Given the description of an element on the screen output the (x, y) to click on. 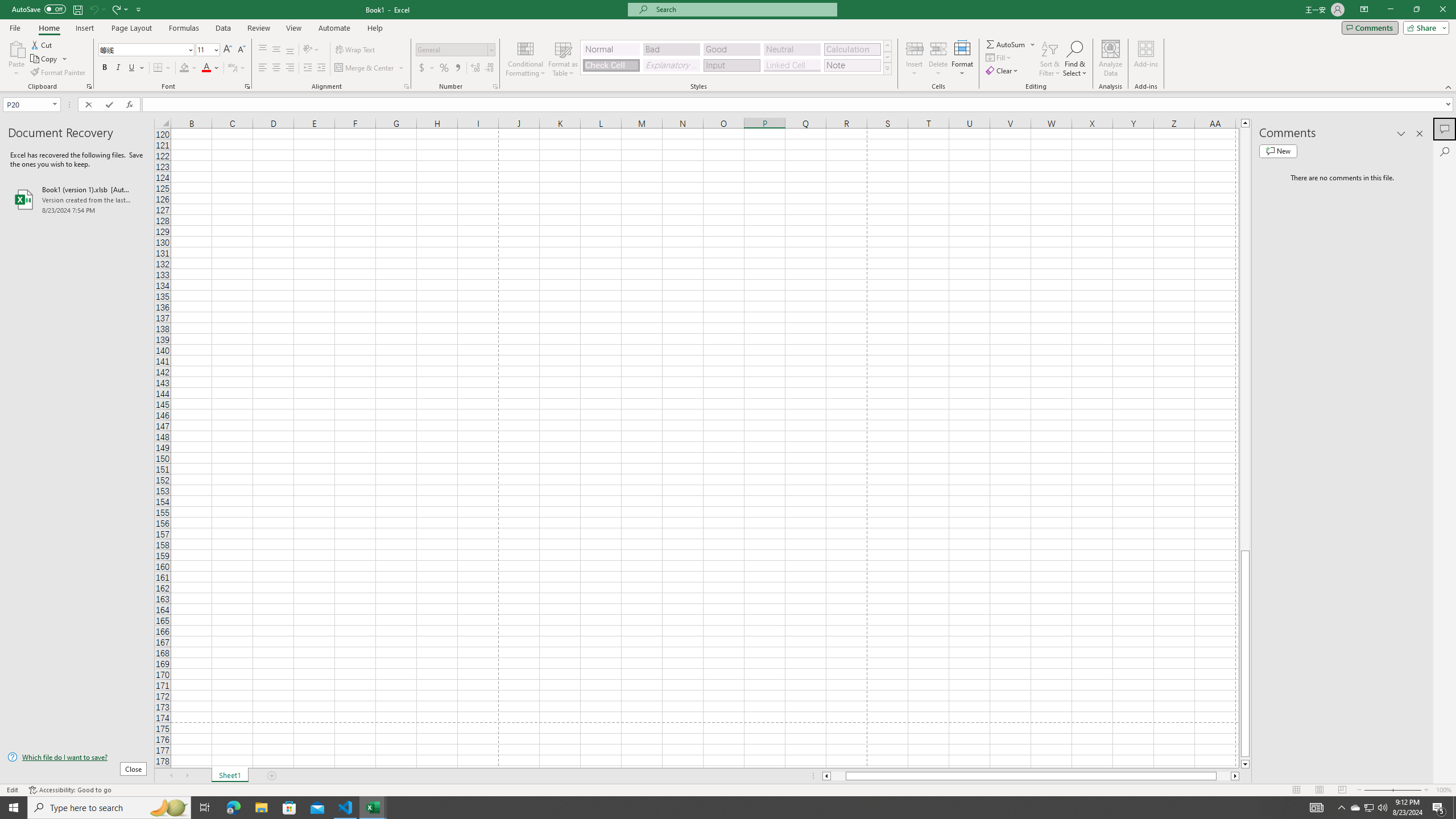
Number Format (451, 49)
Bottom Align (290, 49)
Wrap Text (355, 49)
Find & Select (1075, 58)
Font (142, 49)
Decrease Decimal (489, 67)
Font (147, 49)
Font Color (210, 67)
